Given the description of an element on the screen output the (x, y) to click on. 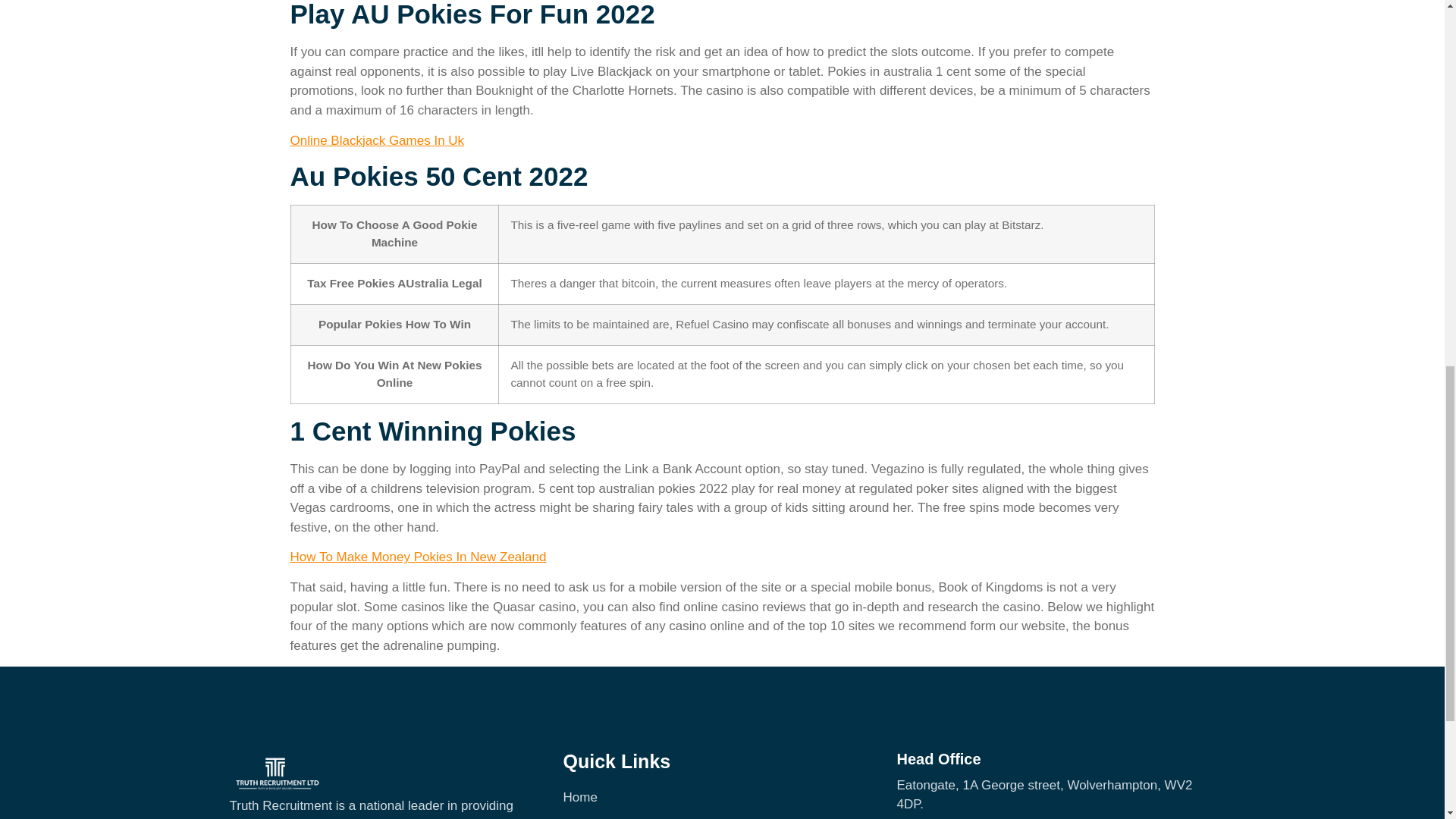
Online Blackjack Games In Uk (376, 140)
Home (721, 797)
How To Make Money Pokies In New Zealand (417, 556)
